Given the description of an element on the screen output the (x, y) to click on. 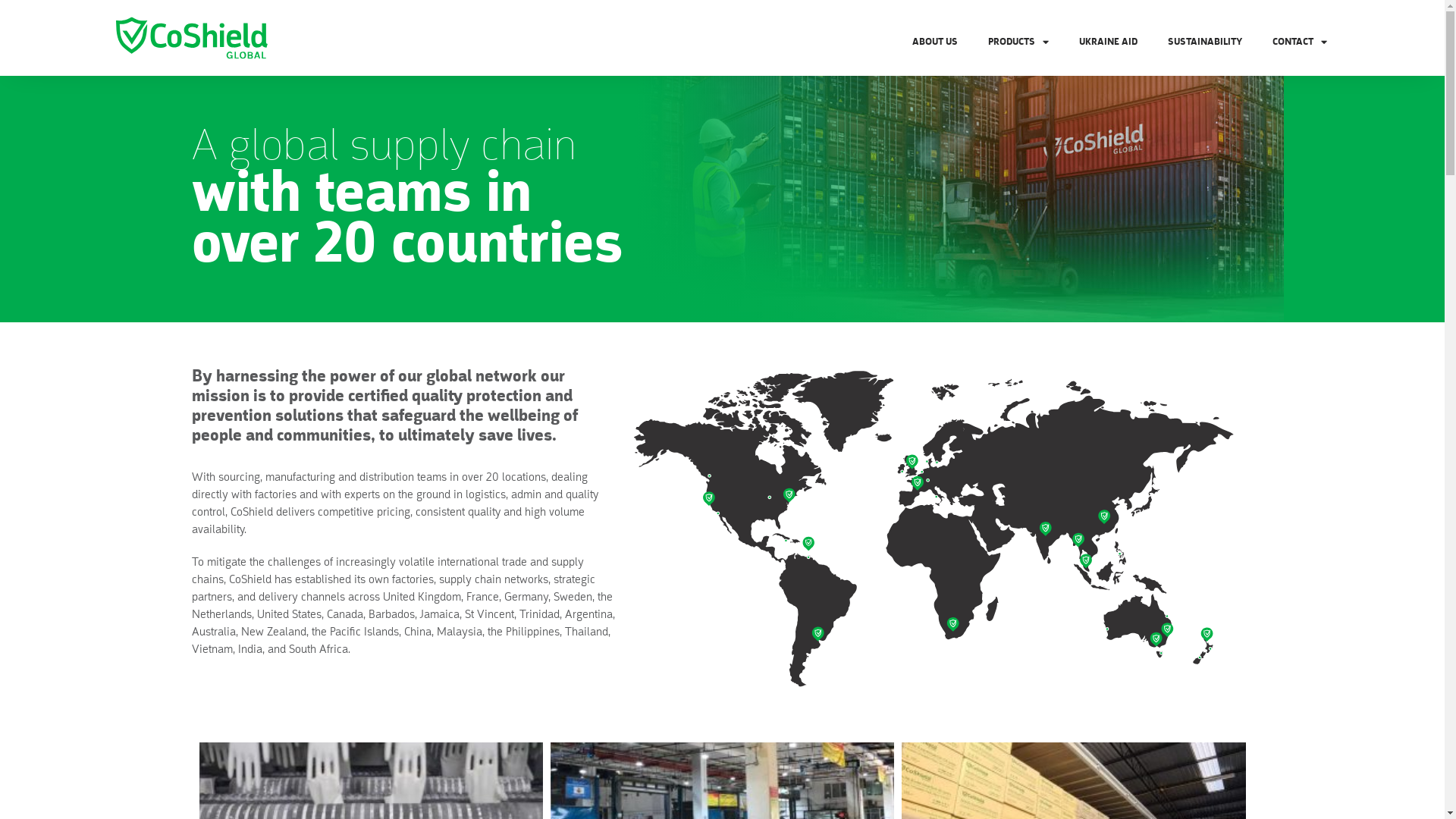
CONTACT Element type: text (1299, 42)
ABOUT US Element type: text (934, 42)
UKRAINE AID Element type: text (1107, 42)
PRODUCTS Element type: text (1017, 42)
SUSTAINABILITY Element type: text (1204, 42)
